Given the description of an element on the screen output the (x, y) to click on. 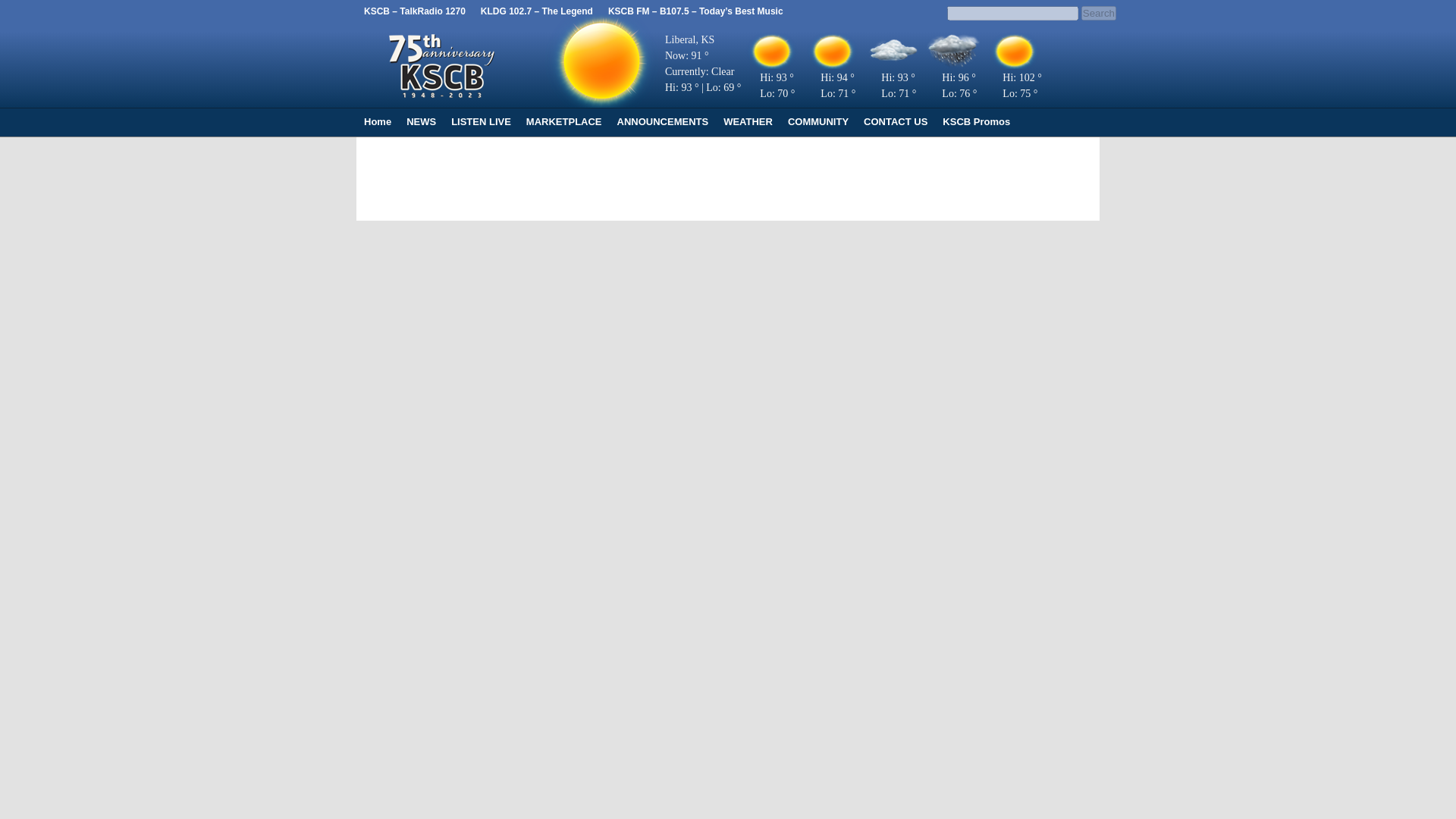
CONTACT US (895, 121)
COMMUNITY (818, 121)
Home (377, 121)
MARKETPLACE (564, 121)
NEWS (421, 121)
WEATHER (748, 121)
ANNOUNCEMENTS (663, 121)
Search (1098, 12)
LISTEN LIVE (481, 121)
Search (1098, 12)
KSCB Promos (975, 121)
